Given the description of an element on the screen output the (x, y) to click on. 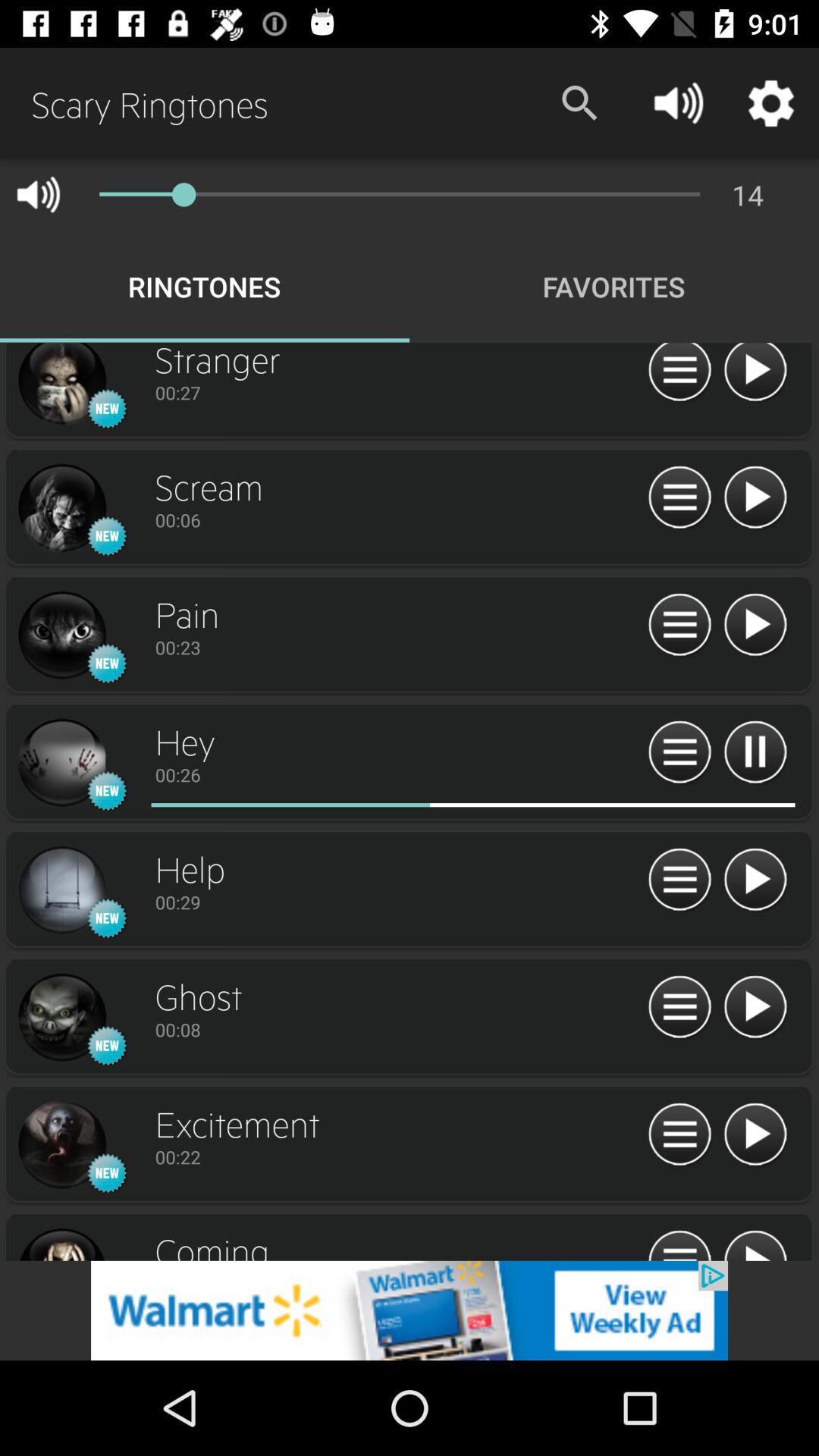
go to play button (755, 1135)
